Given the description of an element on the screen output the (x, y) to click on. 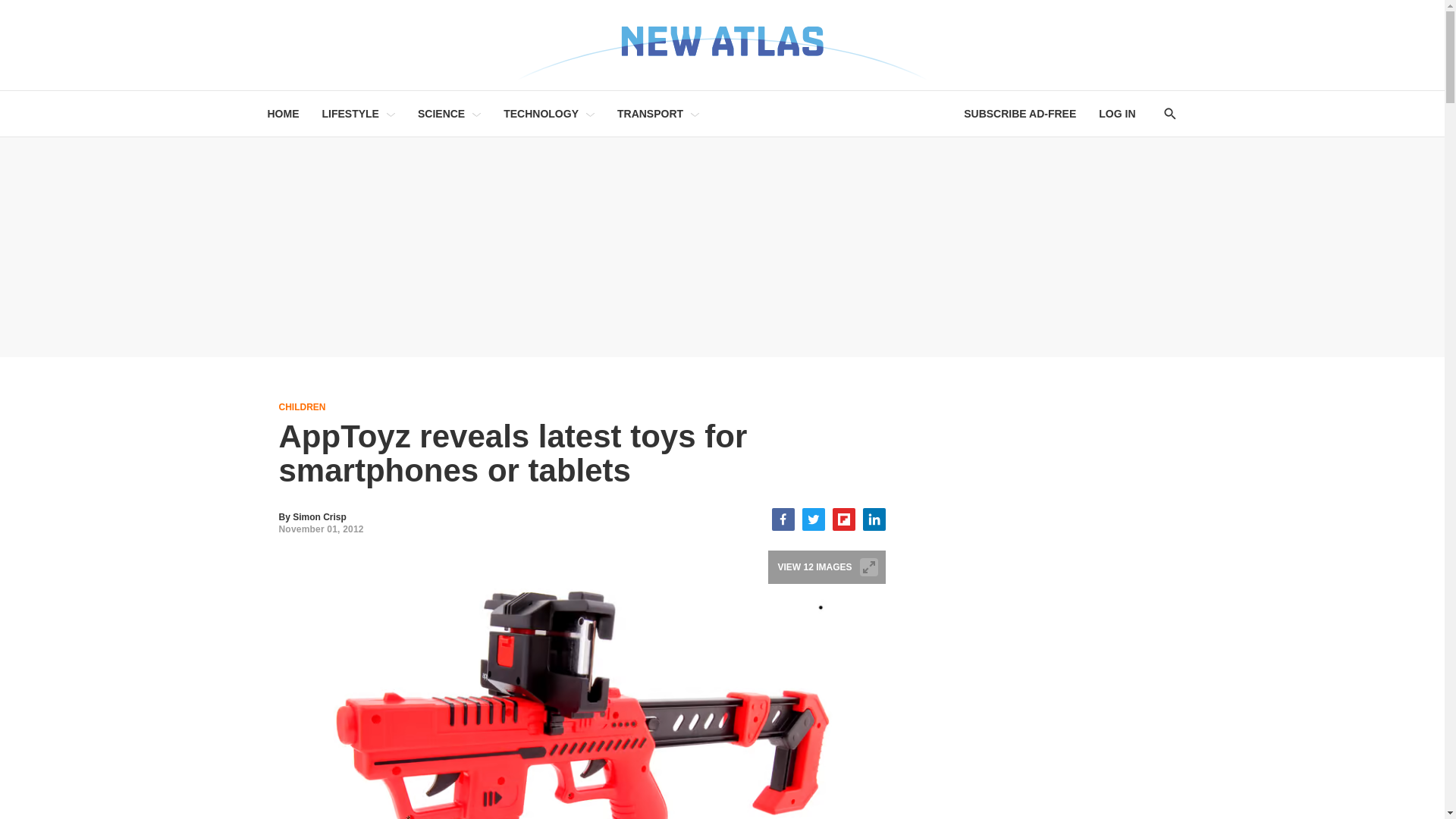
View full-screen (868, 566)
